Given the description of an element on the screen output the (x, y) to click on. 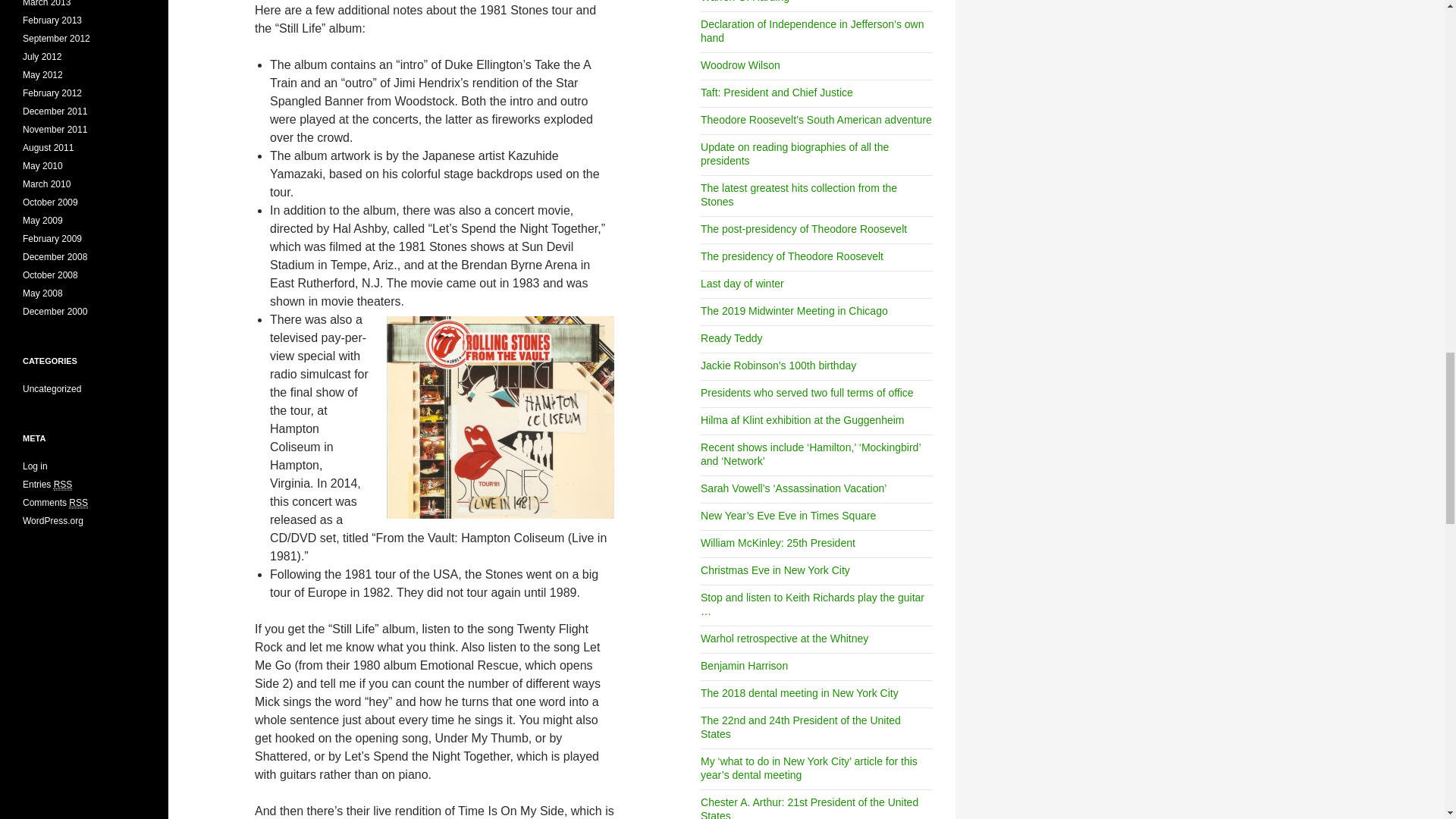
Really Simple Syndication (62, 484)
Really Simple Syndication (77, 502)
